Given the description of an element on the screen output the (x, y) to click on. 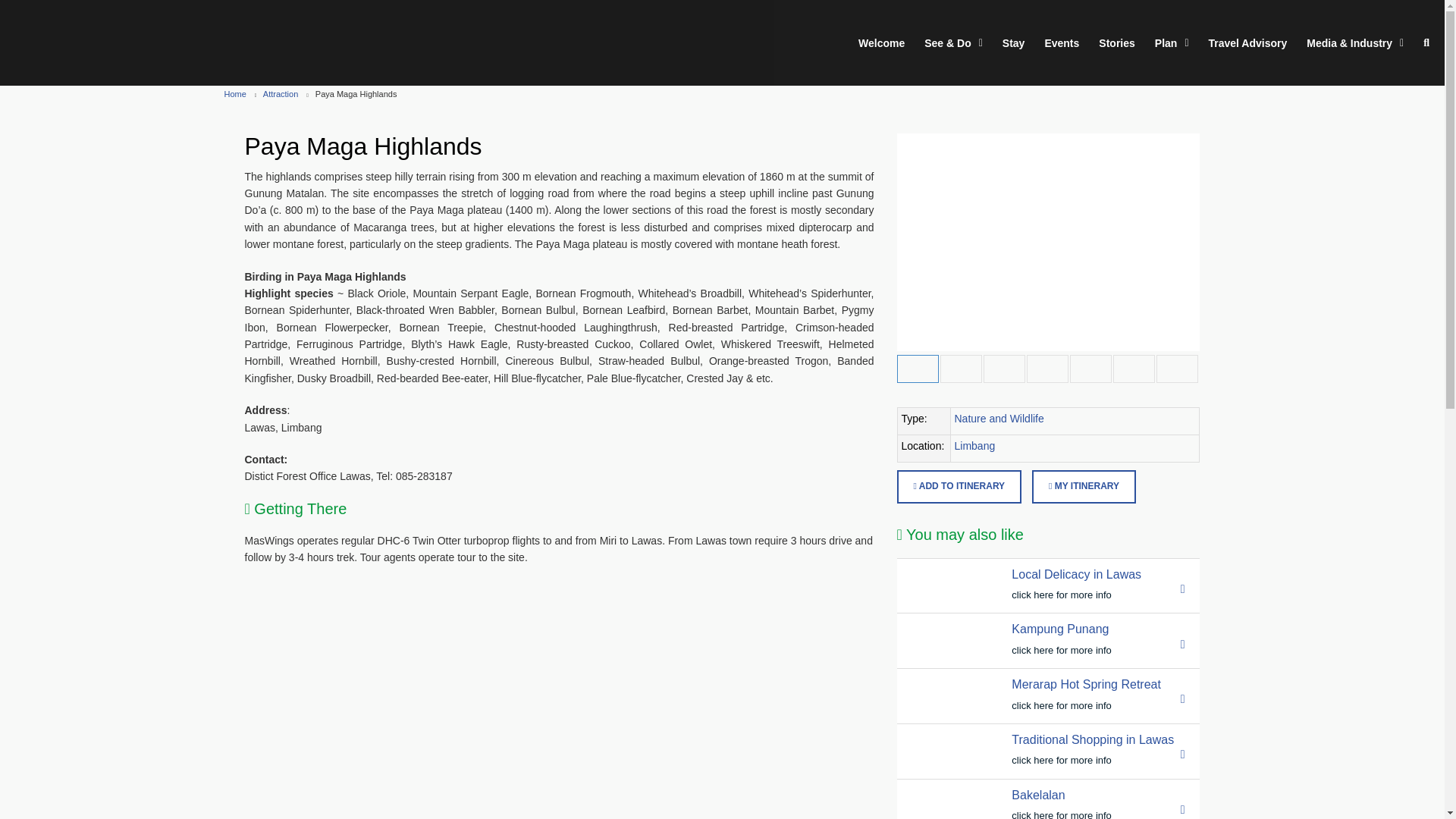
Stay (1014, 43)
Welcome (906, 43)
Events (1060, 43)
Travel Advisory (1247, 43)
Plan (1171, 43)
Stories (1116, 43)
